Given the description of an element on the screen output the (x, y) to click on. 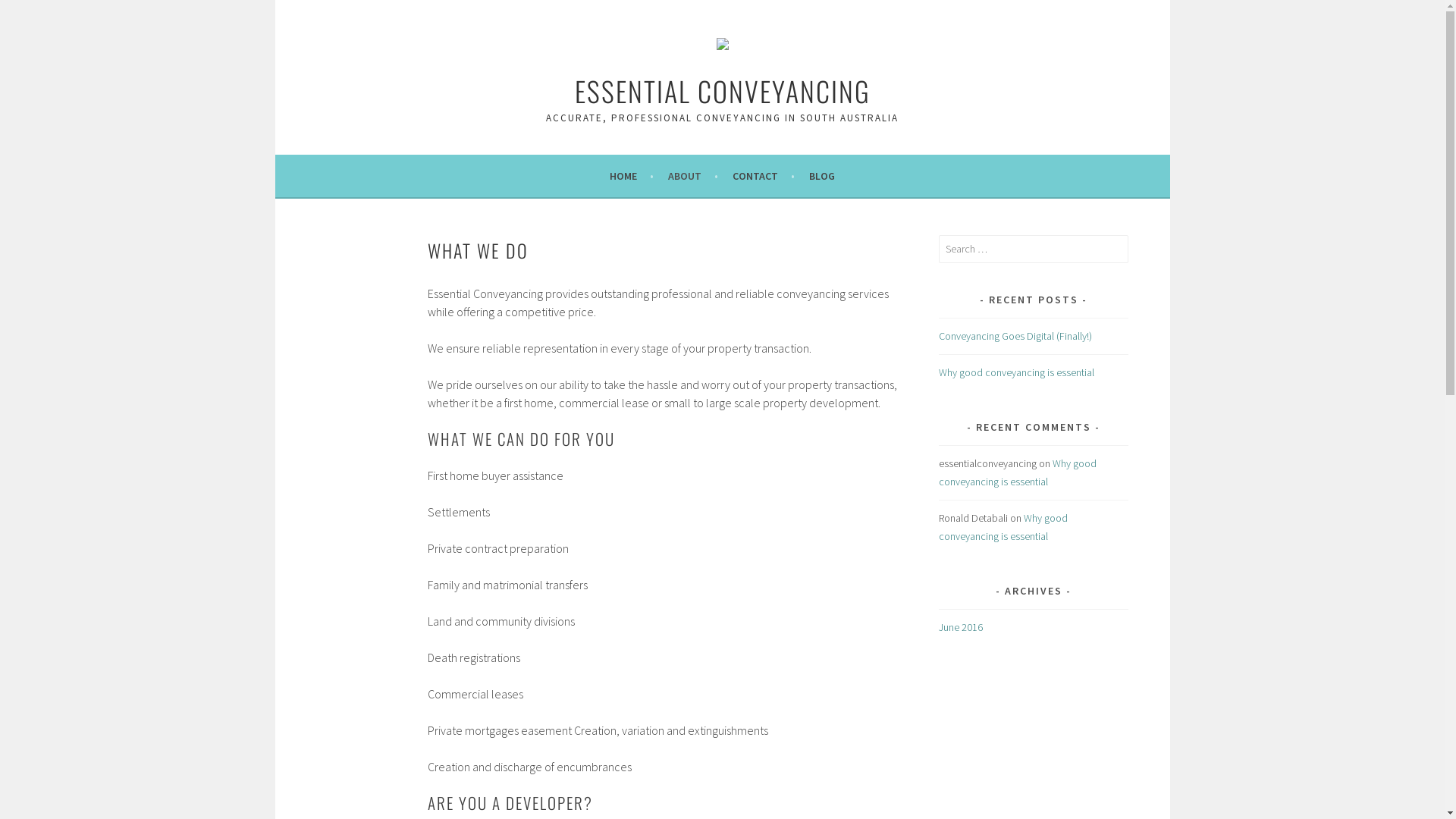
ABOUT Element type: text (693, 175)
Why good conveyancing is essential   Element type: text (1017, 472)
Why good conveyancing is essential   Element type: text (1002, 526)
BLOG Element type: text (821, 175)
CONTACT Element type: text (763, 175)
June 2016 Element type: text (960, 626)
Conveyancing Goes Digital (Finally!) Element type: text (1015, 335)
Why good conveyancing is essential   Element type: text (1018, 372)
Search Element type: text (27, 13)
ESSENTIAL CONVEYANCING Element type: text (722, 90)
HOME Element type: text (631, 175)
